Given the description of an element on the screen output the (x, y) to click on. 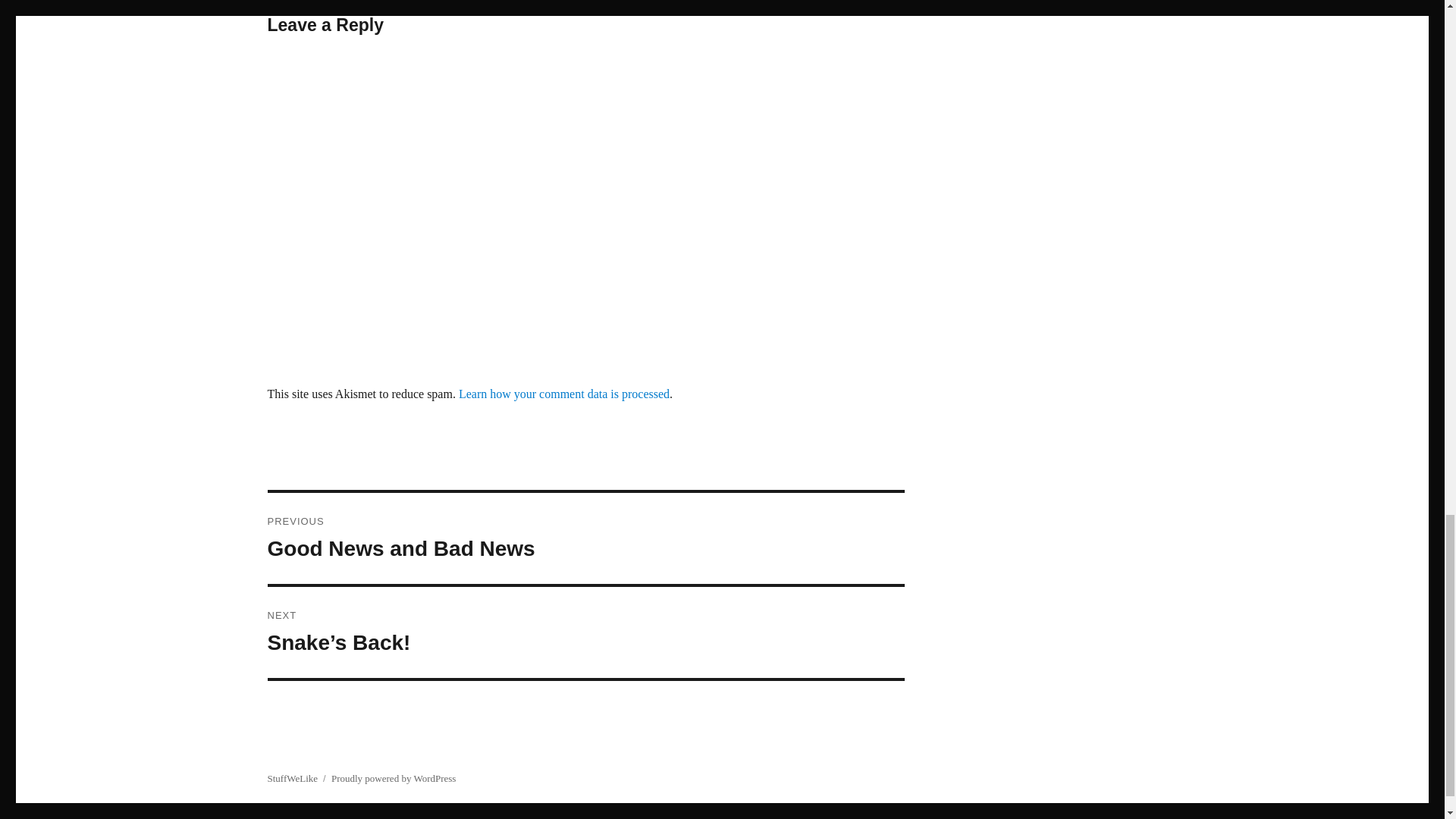
StuffWeLike (291, 778)
Proudly powered by WordPress (393, 778)
Learn how your comment data is processed (563, 393)
